Given the description of an element on the screen output the (x, y) to click on. 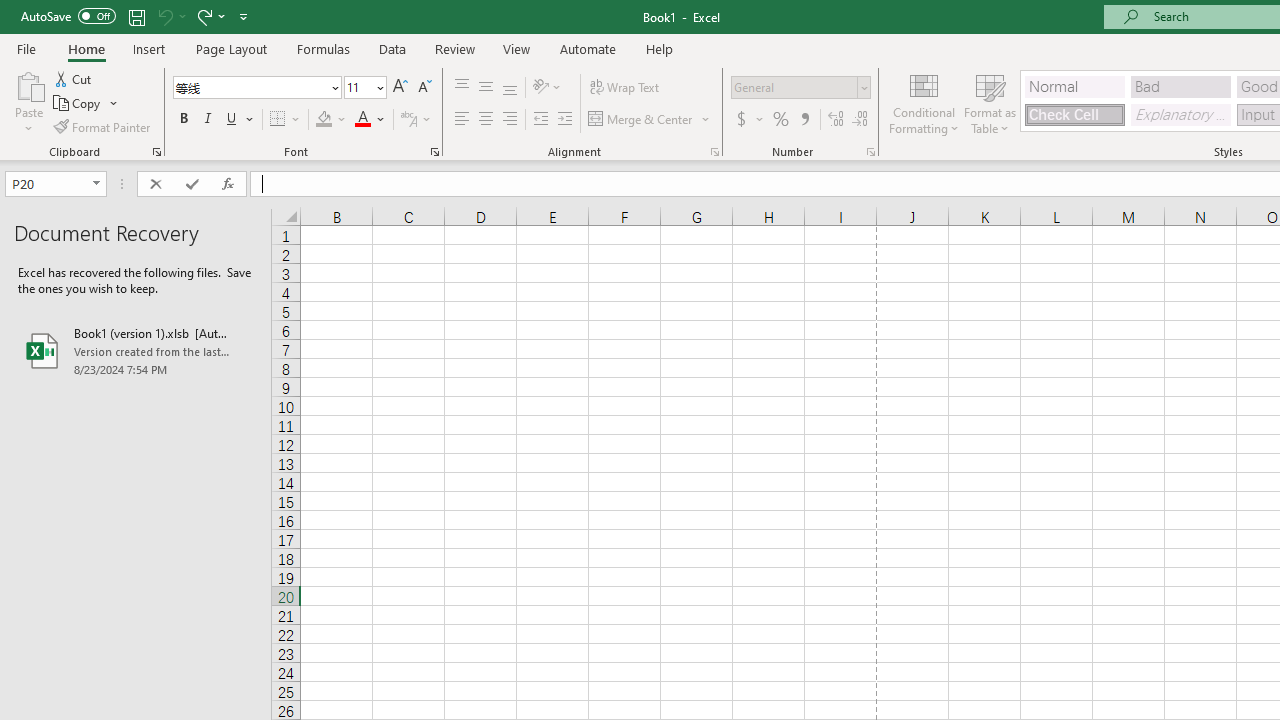
Middle Align (485, 87)
Accounting Number Format (749, 119)
Number Format (800, 87)
Show Phonetic Field (408, 119)
